Given the description of an element on the screen output the (x, y) to click on. 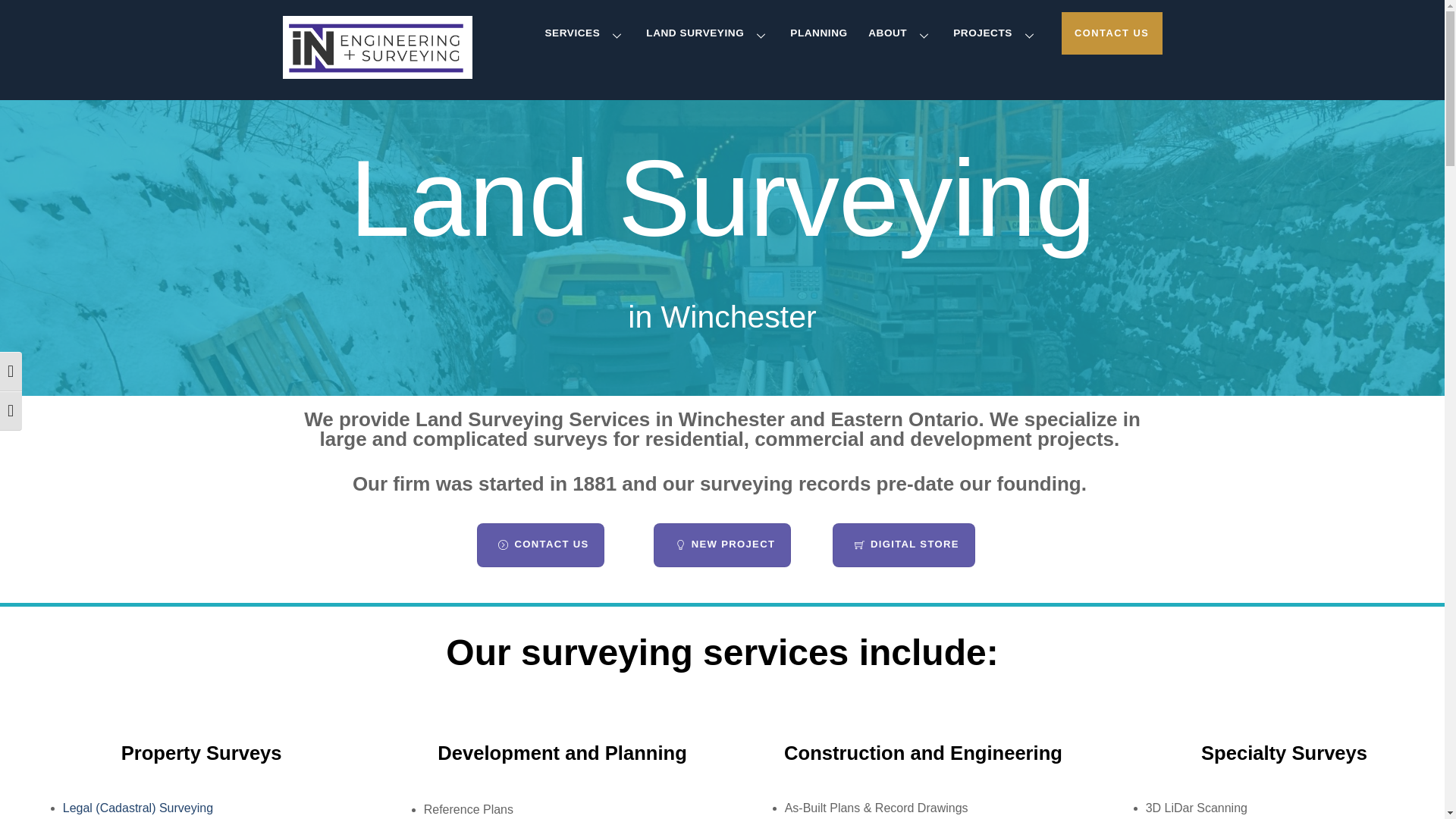
NEW PROJECT (721, 545)
ABOUT (901, 34)
CONTACT US (1111, 33)
PROJECTS (721, 34)
CONTACT US (995, 34)
SERVICES (540, 545)
DIGITAL STORE (584, 34)
PLANNING (903, 545)
LAND SURVEYING (818, 34)
